Given the description of an element on the screen output the (x, y) to click on. 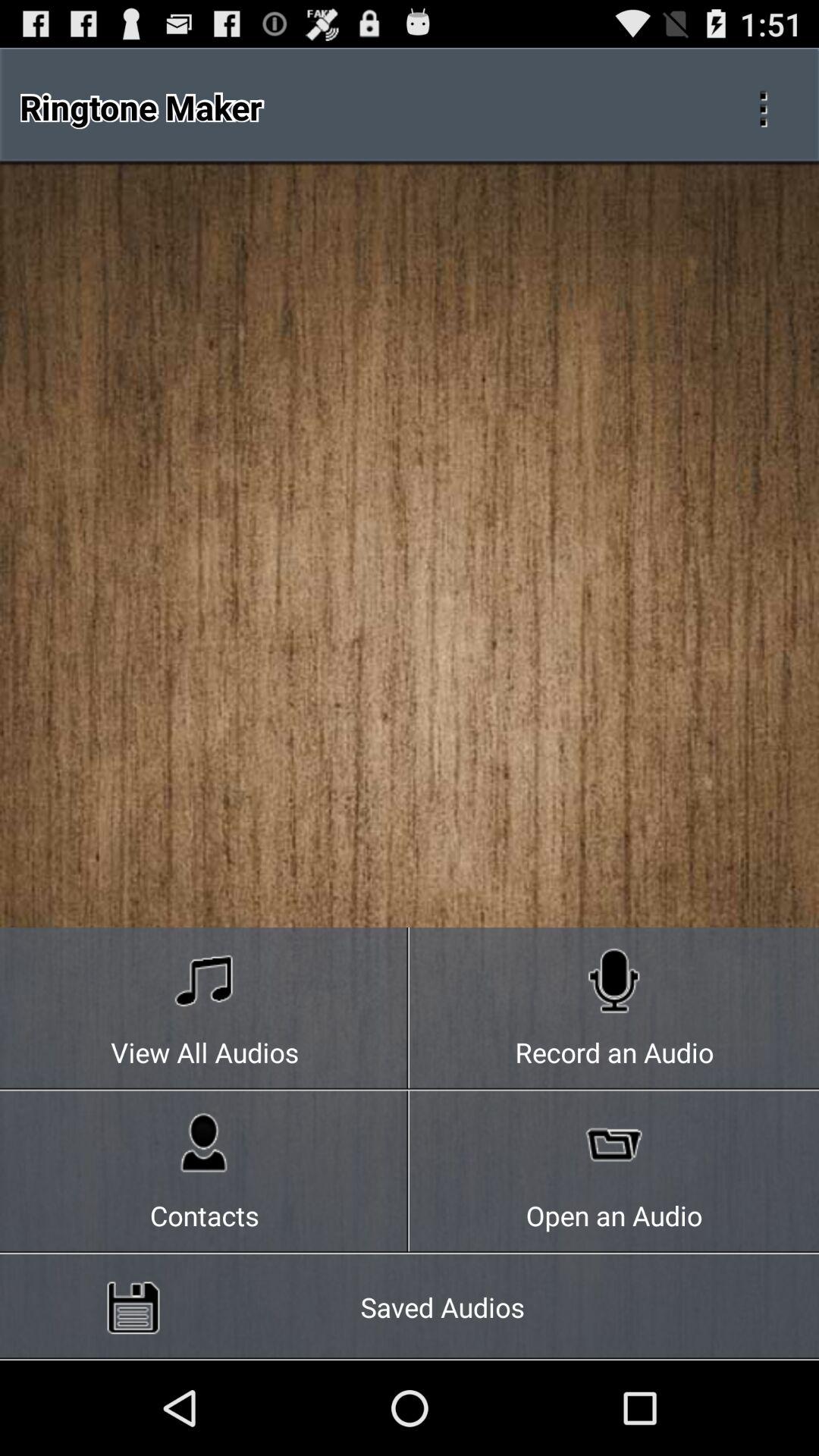
flip to saved audios item (409, 1307)
